Given the description of an element on the screen output the (x, y) to click on. 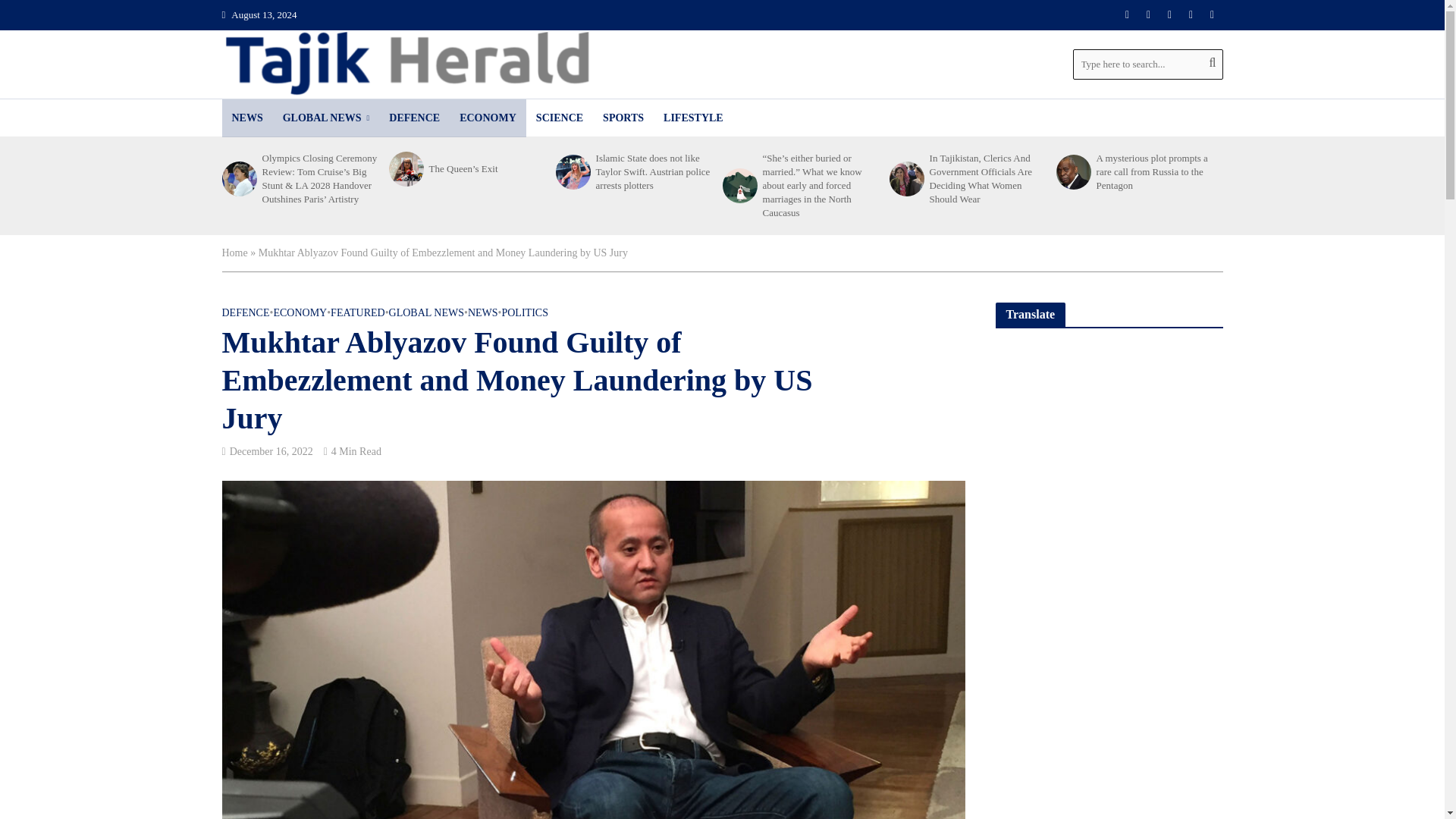
SCIENCE (558, 118)
NEWS (246, 118)
SPORTS (622, 118)
LIFESTYLE (693, 118)
GLOBAL NEWS (326, 118)
